Given the description of an element on the screen output the (x, y) to click on. 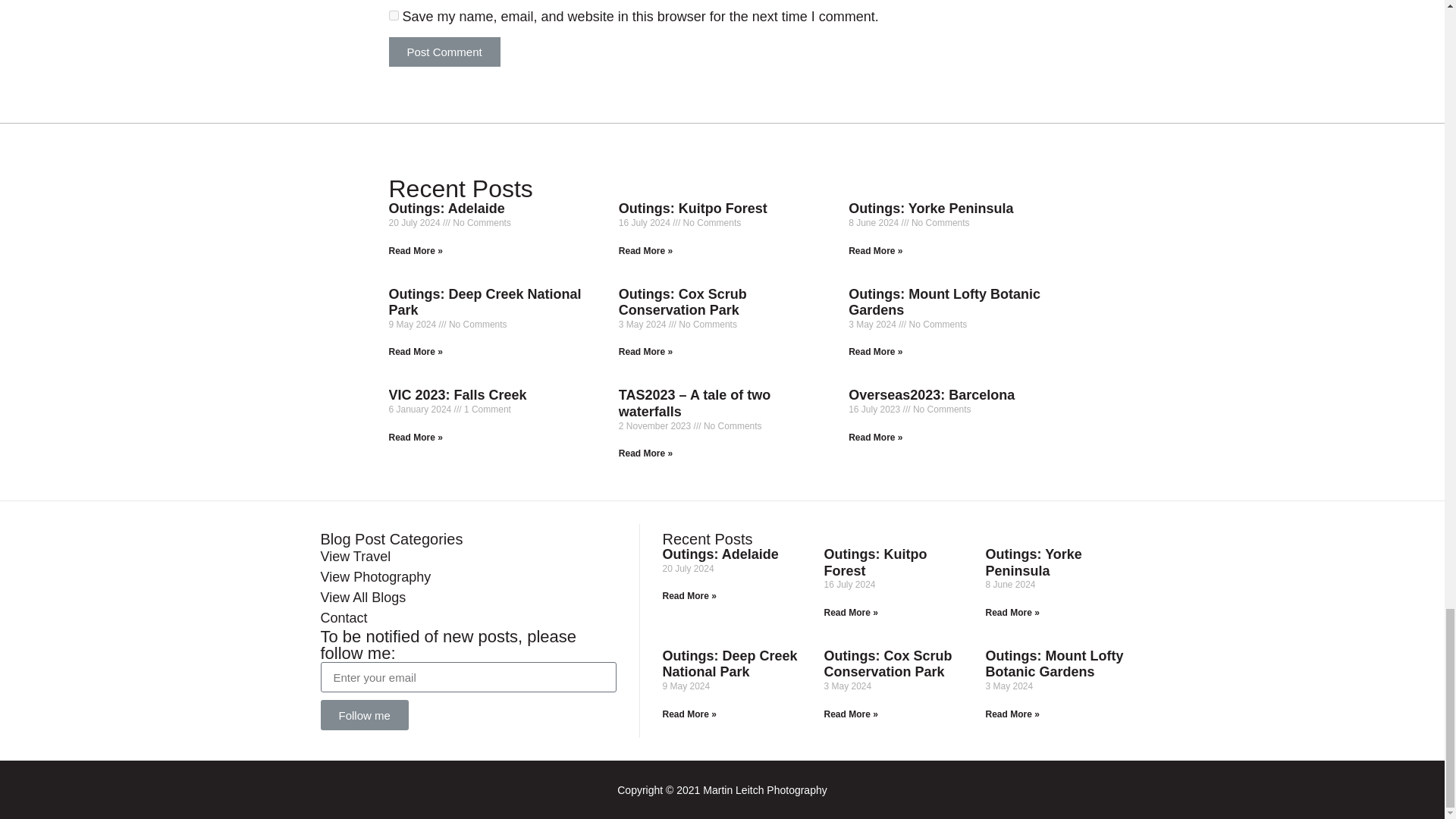
yes (392, 15)
Post Comment (443, 51)
